Given the description of an element on the screen output the (x, y) to click on. 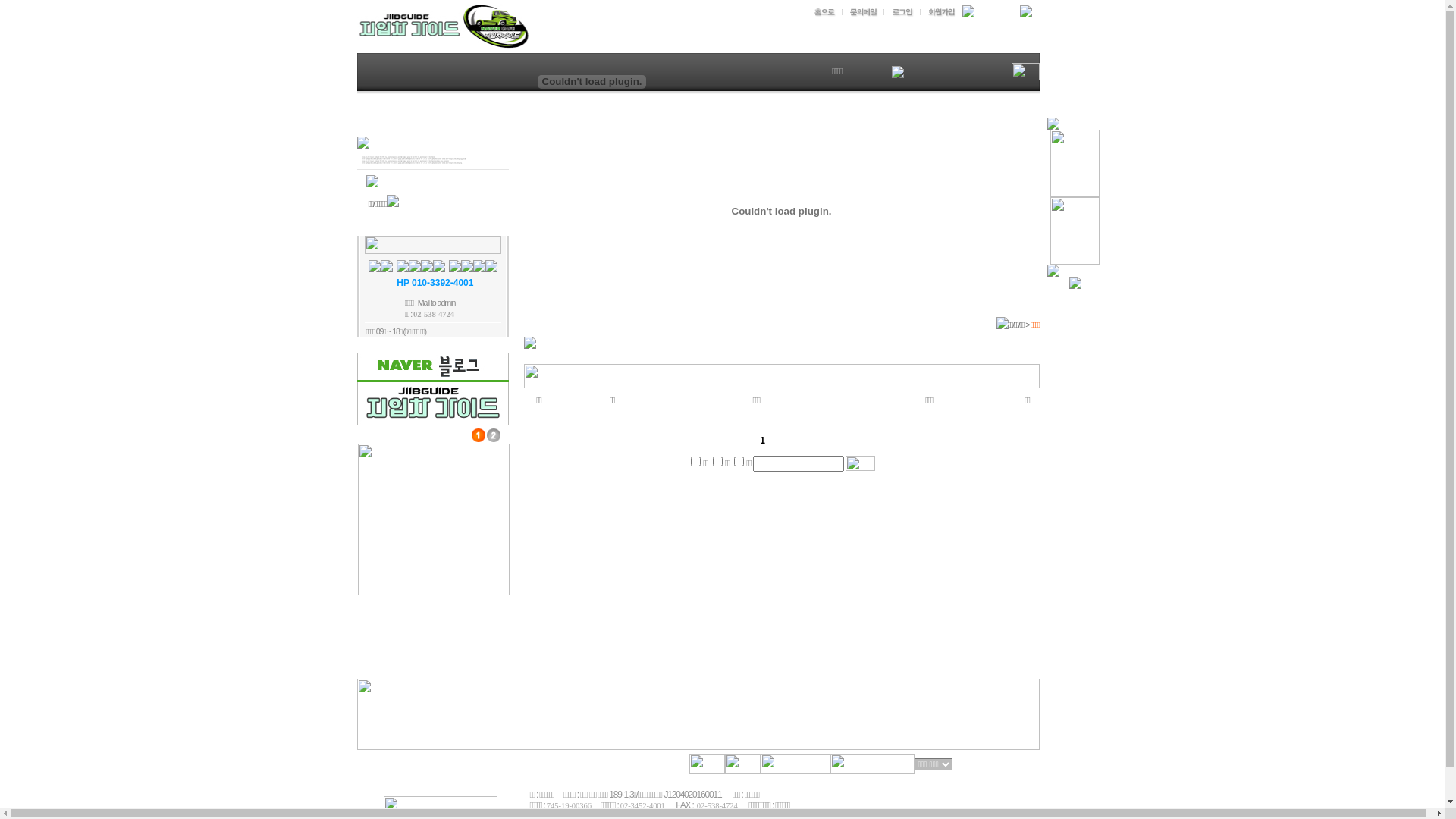
1 Element type: text (695, 461)
4 Element type: text (738, 461)
2 Element type: text (717, 461)
